Given the description of an element on the screen output the (x, y) to click on. 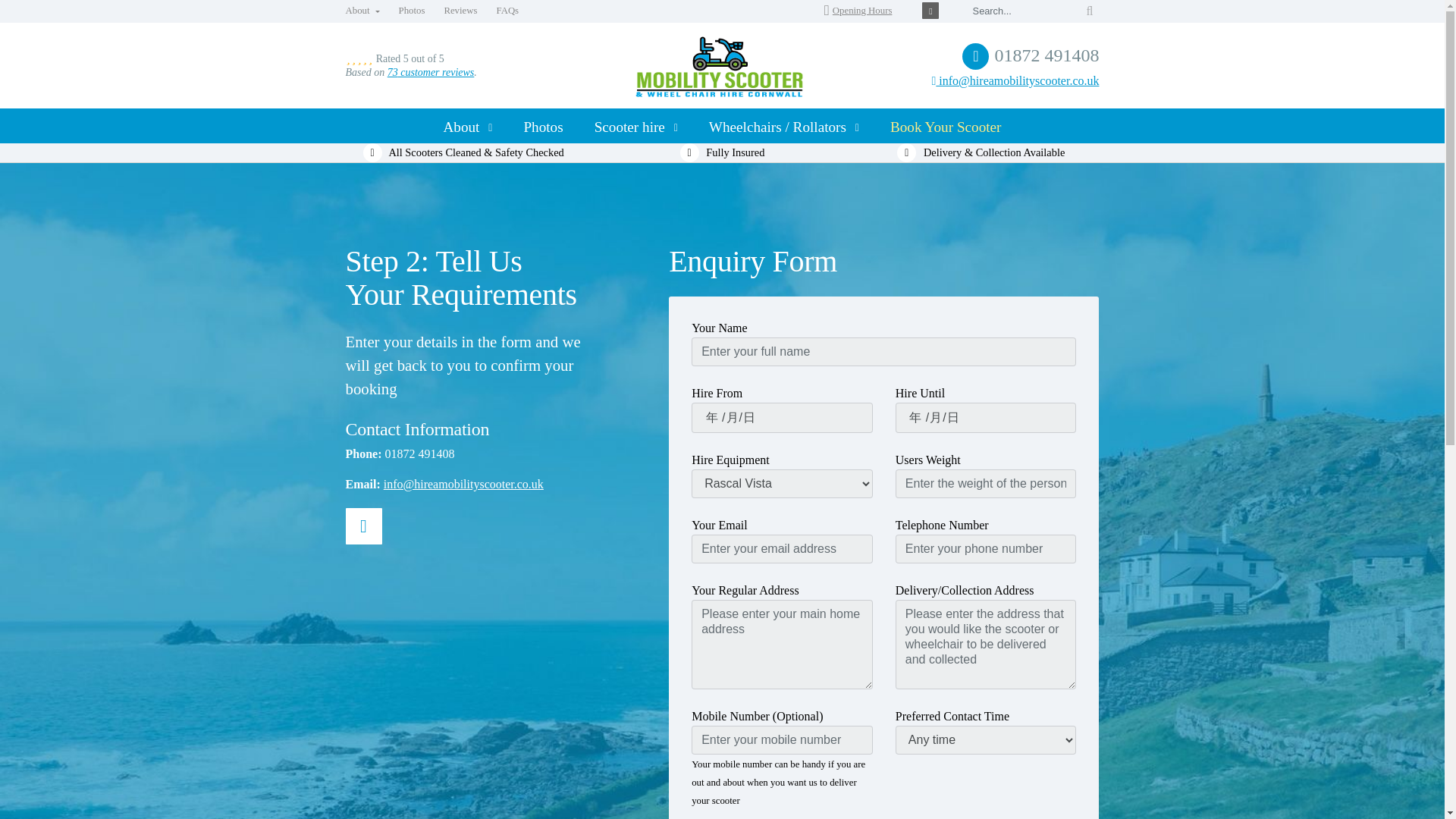
FAQs (507, 11)
About (363, 11)
About (466, 125)
FAQs (507, 11)
Opening Hours (858, 9)
Photos (542, 125)
Scooter hire (636, 125)
Reviews (460, 11)
About (363, 11)
73 customer reviews (430, 71)
